Given the description of an element on the screen output the (x, y) to click on. 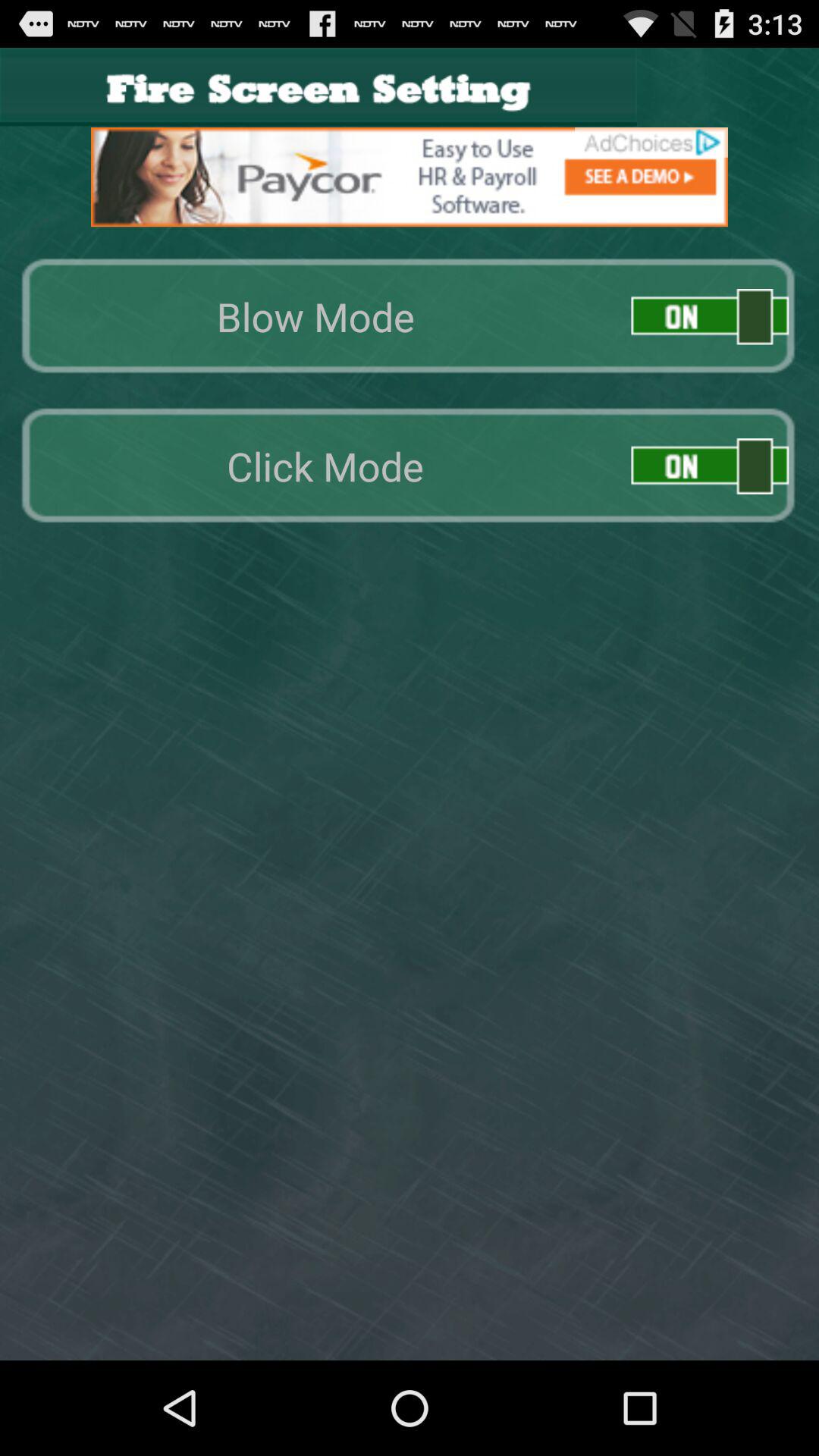
advertisement (409, 176)
